Given the description of an element on the screen output the (x, y) to click on. 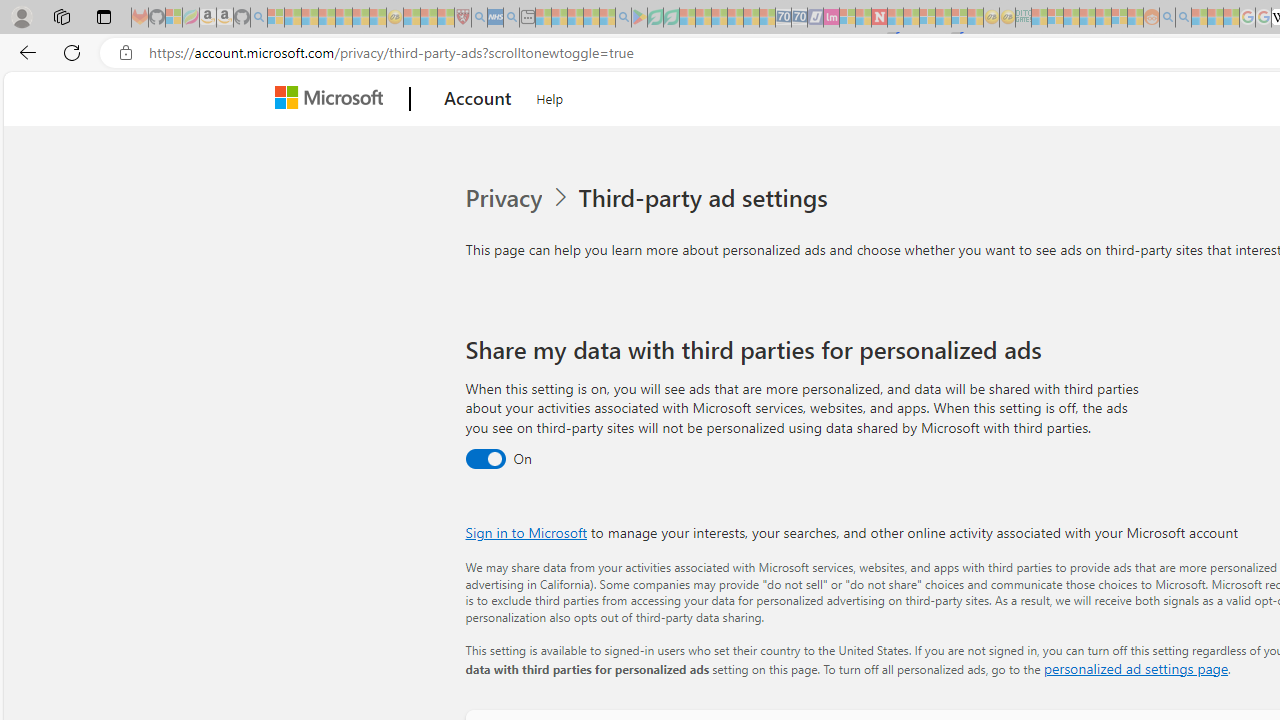
google - Search - Sleeping (623, 17)
Bluey: Let's Play! - Apps on Google Play - Sleeping (639, 17)
Terms of Use Agreement - Sleeping (655, 17)
MSNBC - MSN - Sleeping (1039, 17)
Jobs - lastminute.com Investor Portal - Sleeping (831, 17)
New Report Confirms 2023 Was Record Hot | Watch - Sleeping (343, 17)
Third party data sharing toggle (484, 459)
Sign in to Microsoft (525, 532)
